Given the description of an element on the screen output the (x, y) to click on. 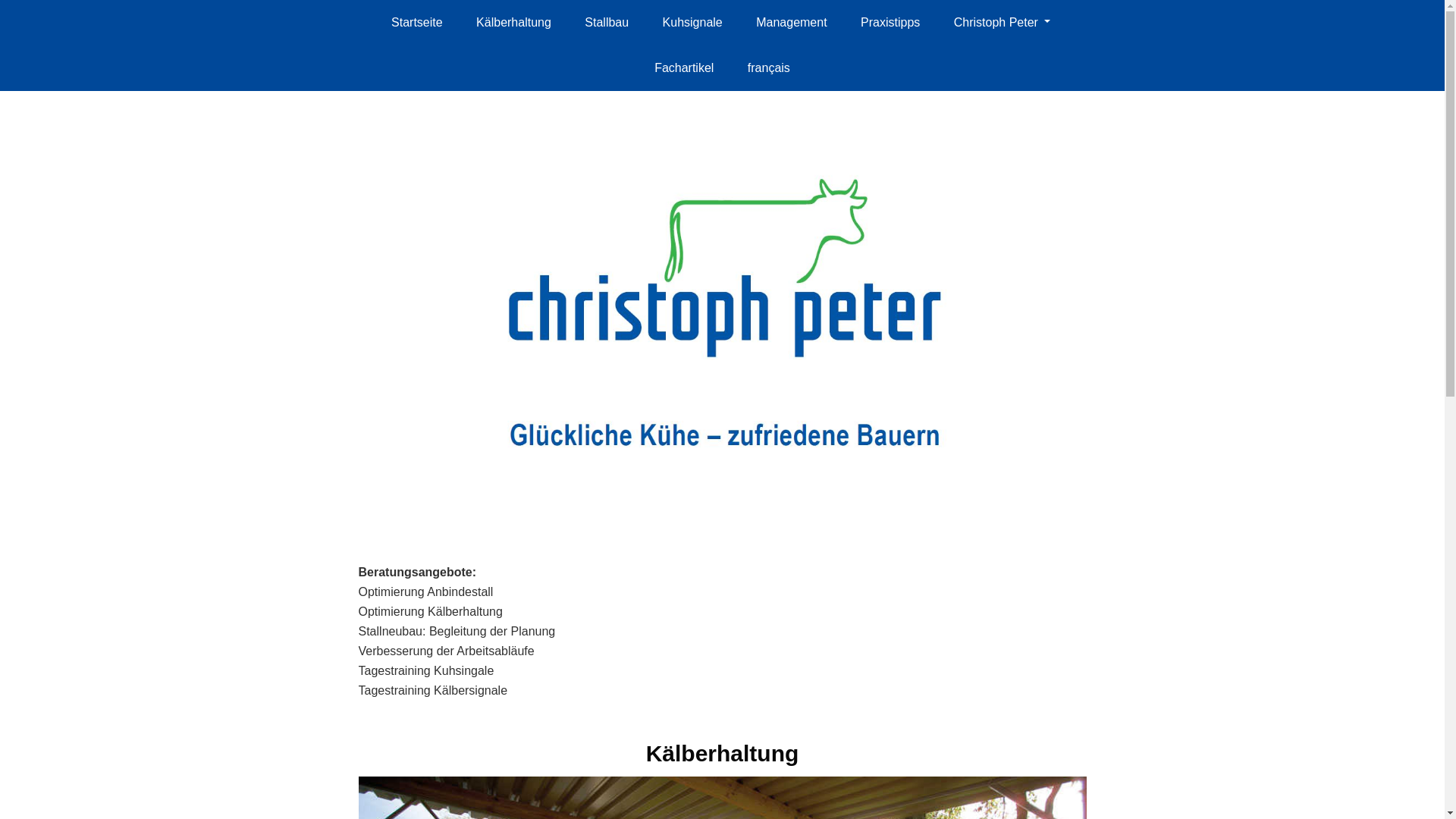
Kuhsignale Element type: text (692, 22)
Praxistipps Element type: text (890, 22)
Management Element type: text (790, 22)
Startseite Element type: text (417, 22)
Fachartikel Element type: text (683, 68)
Stallbau Element type: text (606, 22)
